Given the description of an element on the screen output the (x, y) to click on. 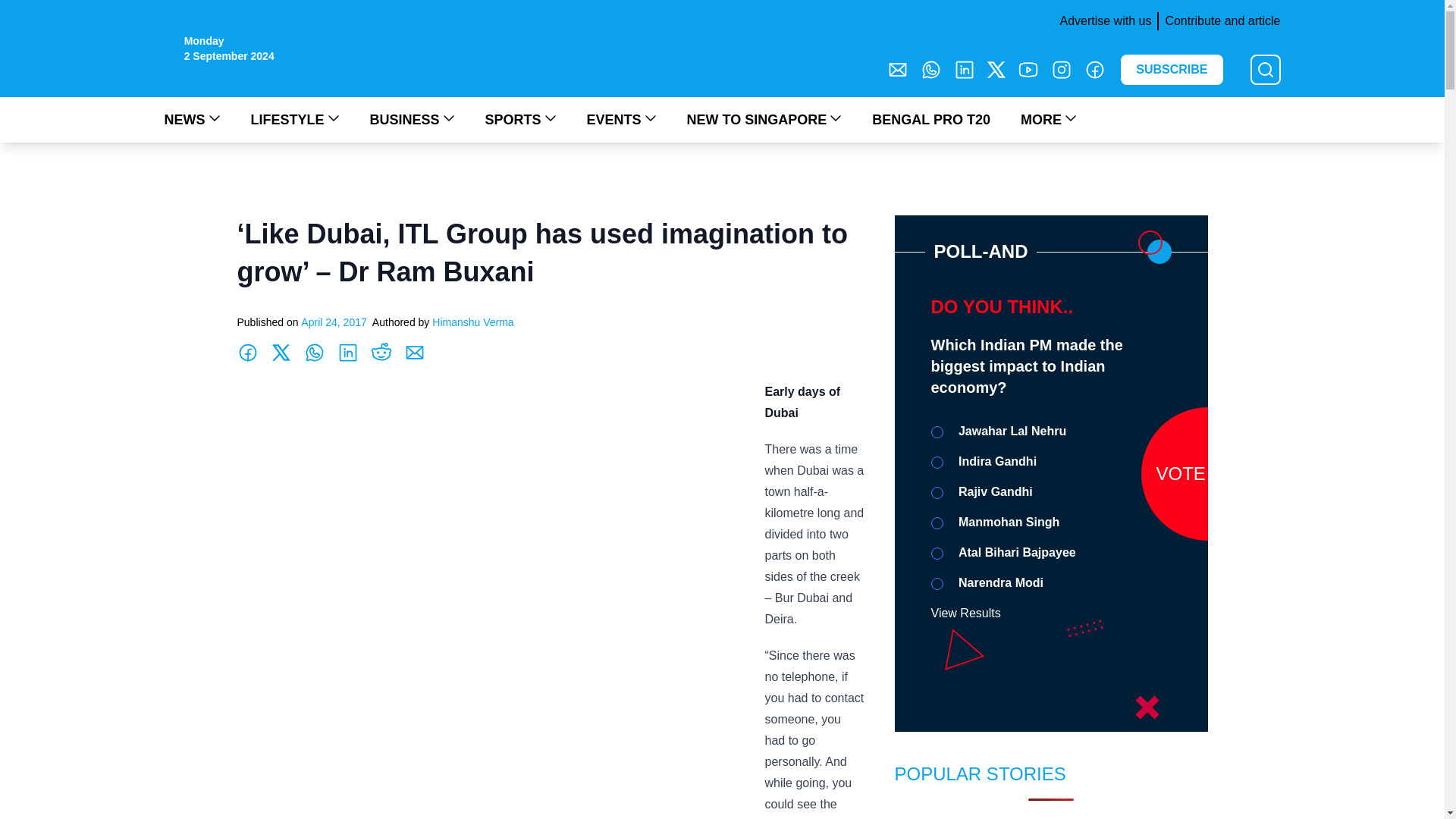
Youtube (1028, 69)
Tweeter (996, 69)
SUBSCRIBE (1172, 69)
LIFESTYLE (294, 119)
View Results Of This Poll (966, 612)
Email us (897, 69)
SPORTS (520, 119)
Facebook (1094, 69)
49 (937, 431)
Instagram (1061, 69)
